Given the description of an element on the screen output the (x, y) to click on. 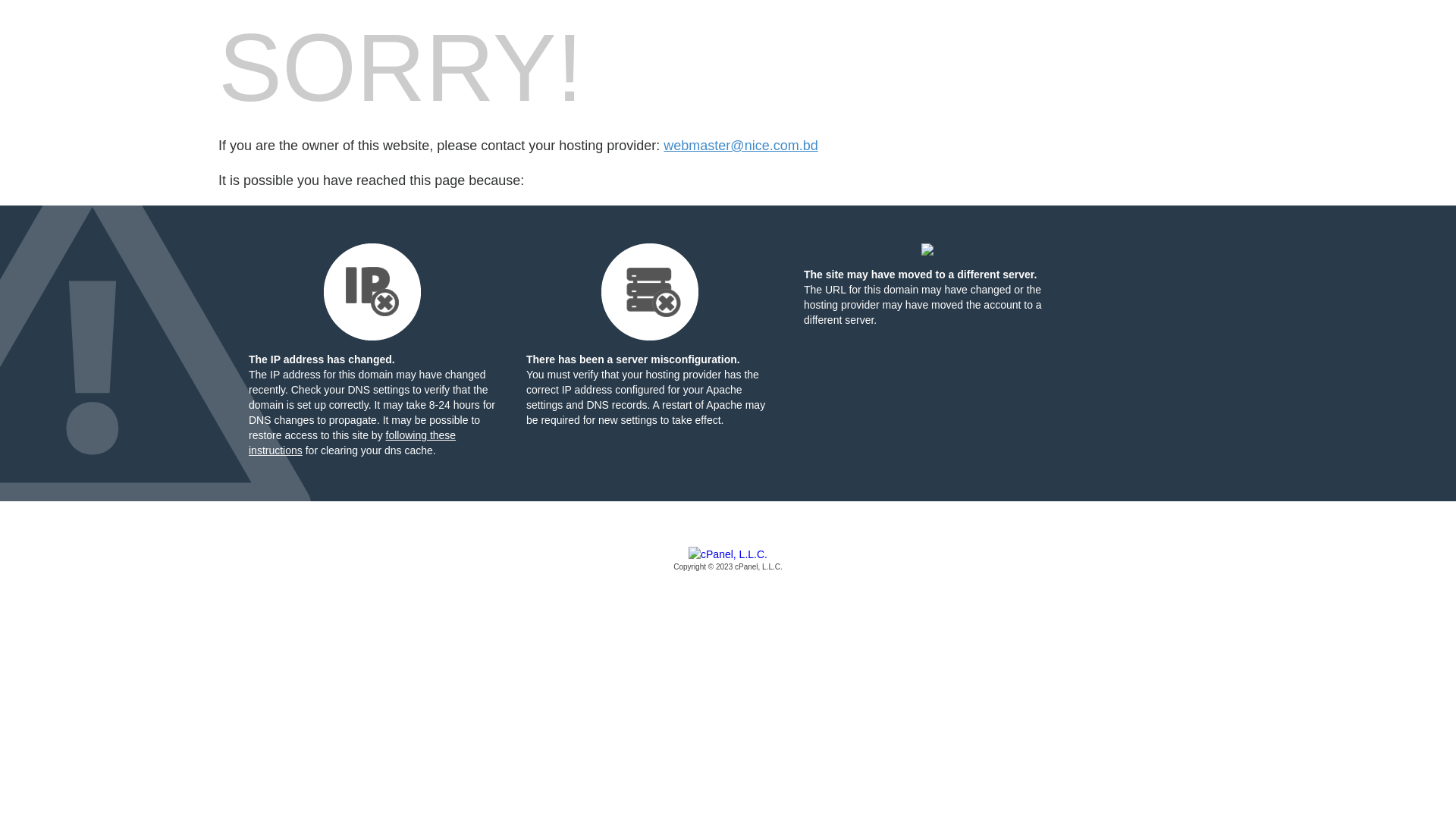
following these instructions Element type: text (351, 442)
webmaster@nice.com.bd Element type: text (740, 145)
